Given the description of an element on the screen output the (x, y) to click on. 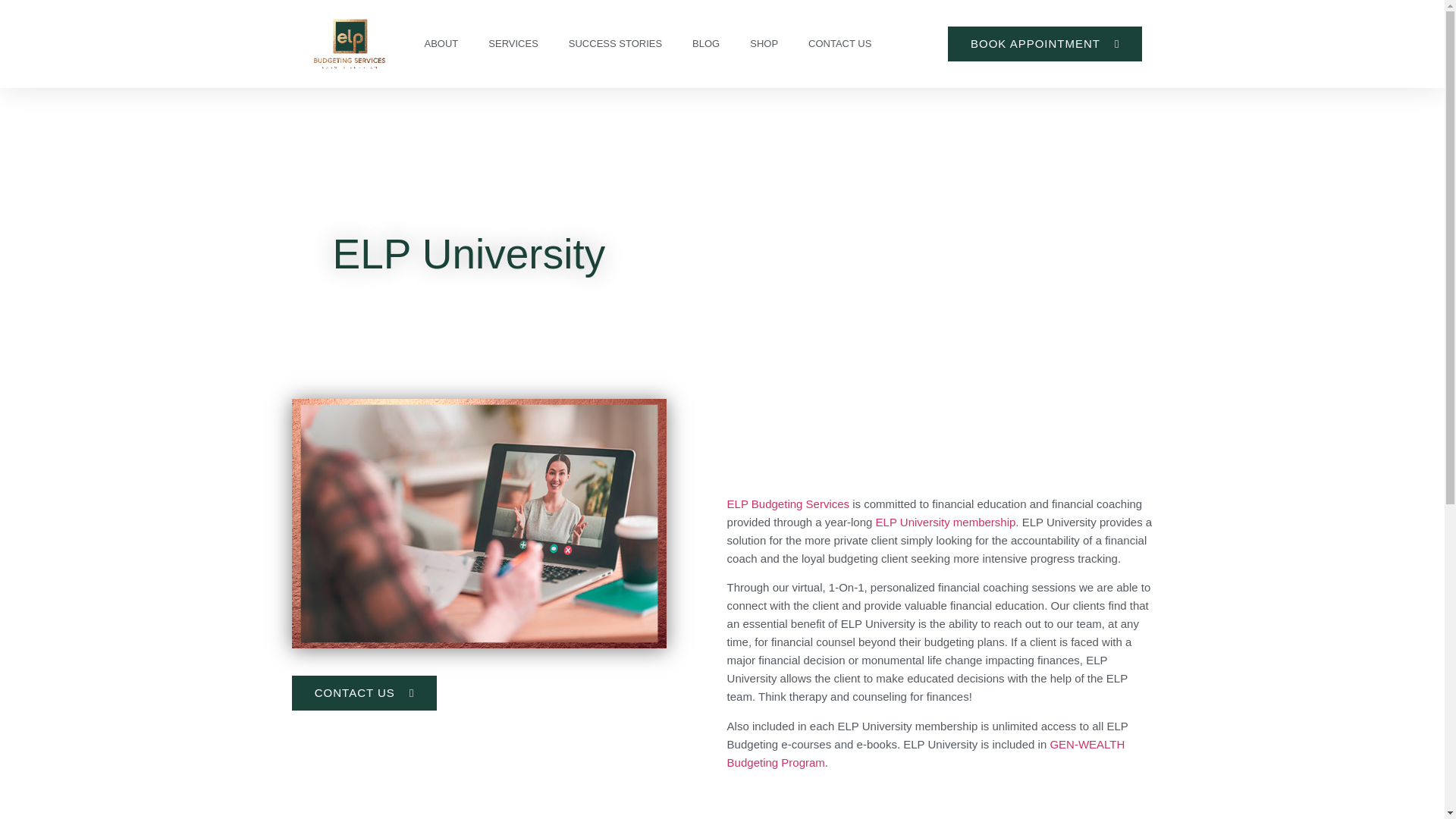
ABOUT (441, 43)
SERVICES (513, 43)
GEN-WEALTH Budgeting Program (925, 753)
BOOK APPOINTMENT (1044, 43)
SHOP (764, 43)
ELP Budgeting Services (788, 503)
CONTACT US (365, 692)
CONTACT US (839, 43)
ELP University membership (946, 521)
SUCCESS STORIES (615, 43)
